Given the description of an element on the screen output the (x, y) to click on. 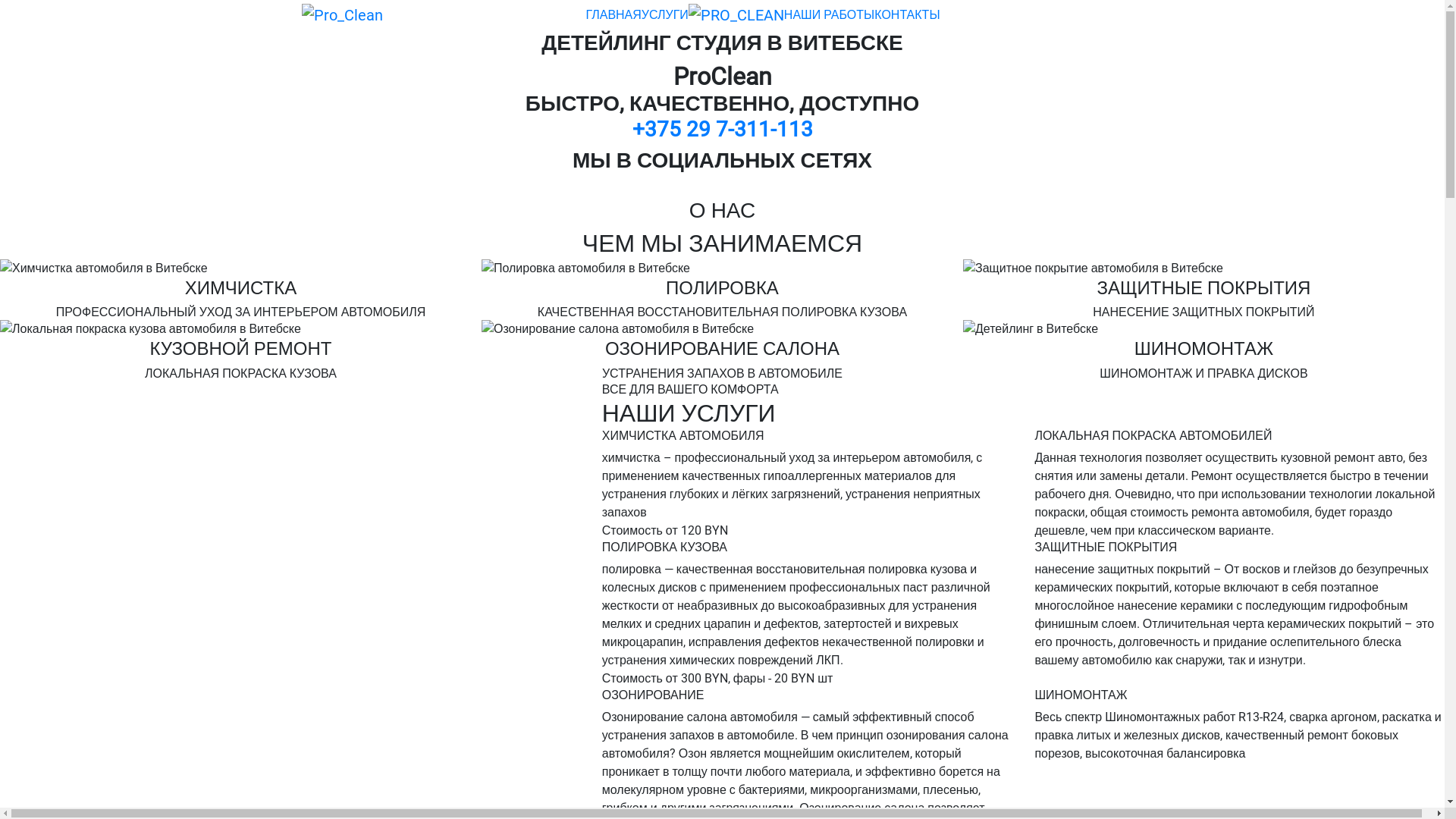
+375 29 7-311-113 Element type: text (722, 128)
